Given the description of an element on the screen output the (x, y) to click on. 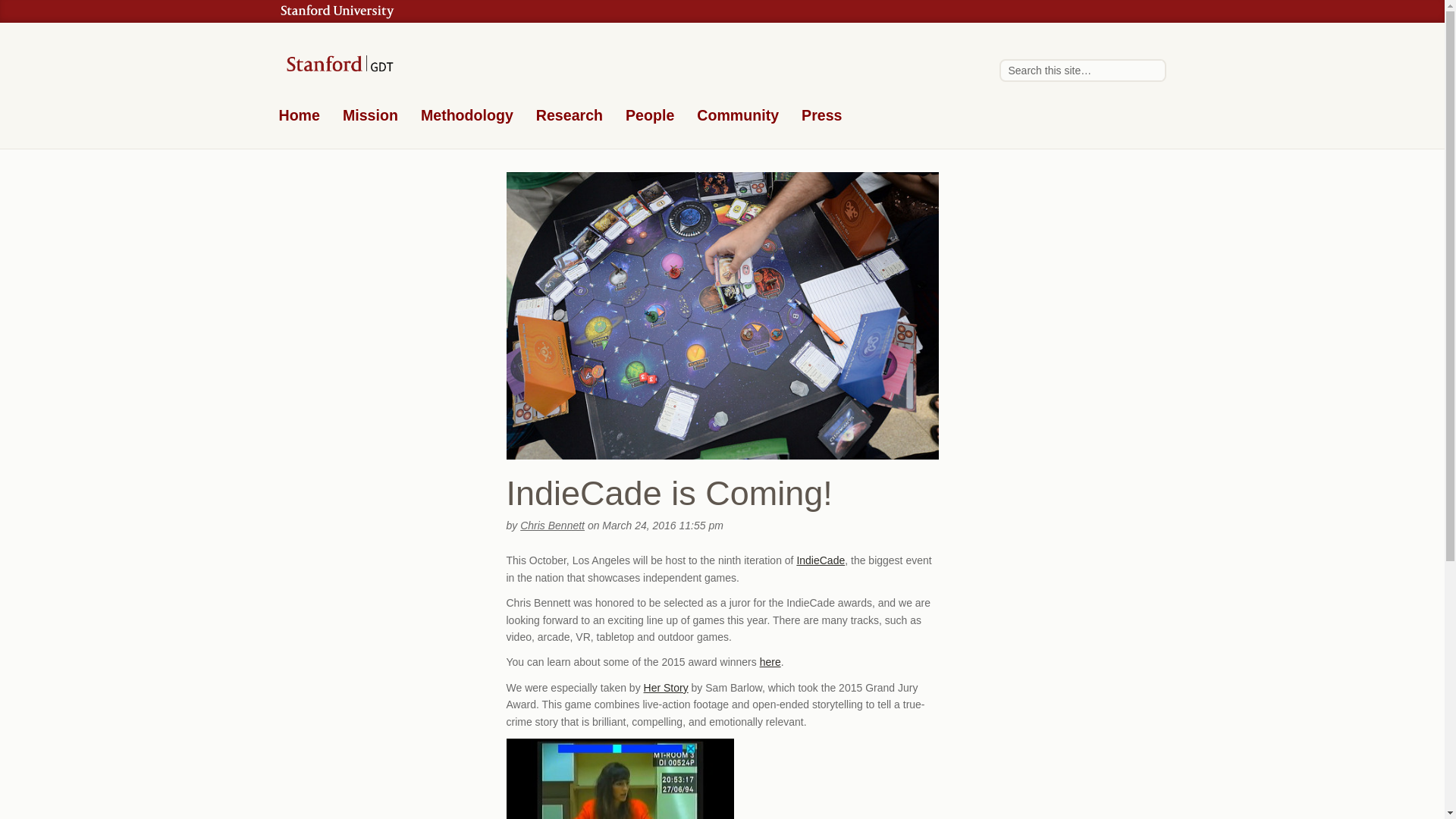
Home (299, 117)
Methodology (466, 117)
Community (737, 117)
Research (568, 117)
IndieCade (820, 560)
here (770, 662)
Posts by Chris Bennett (552, 525)
Search (1151, 70)
Her Story (665, 687)
Search string (1082, 69)
Press (821, 117)
People (650, 117)
Mission (369, 117)
Chris Bennett (552, 525)
